Given the description of an element on the screen output the (x, y) to click on. 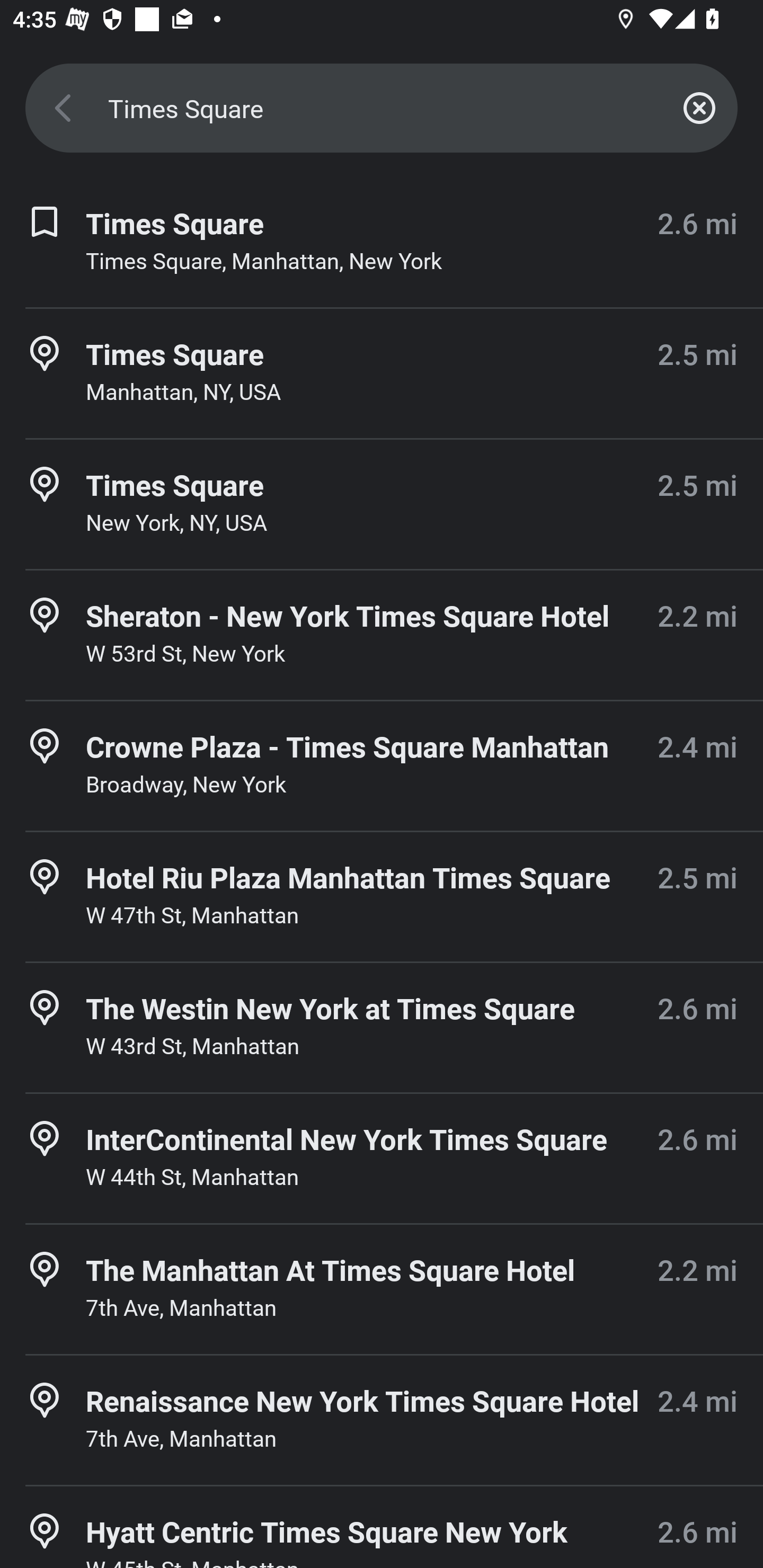
Times Square SEARCH_SCREEN_SEARCH_FIELD (381, 108)
Times Square 2.5 mi Manhattan, NY, USA (381, 372)
Times Square 2.5 mi New York, NY, USA (381, 504)
